Given the description of an element on the screen output the (x, y) to click on. 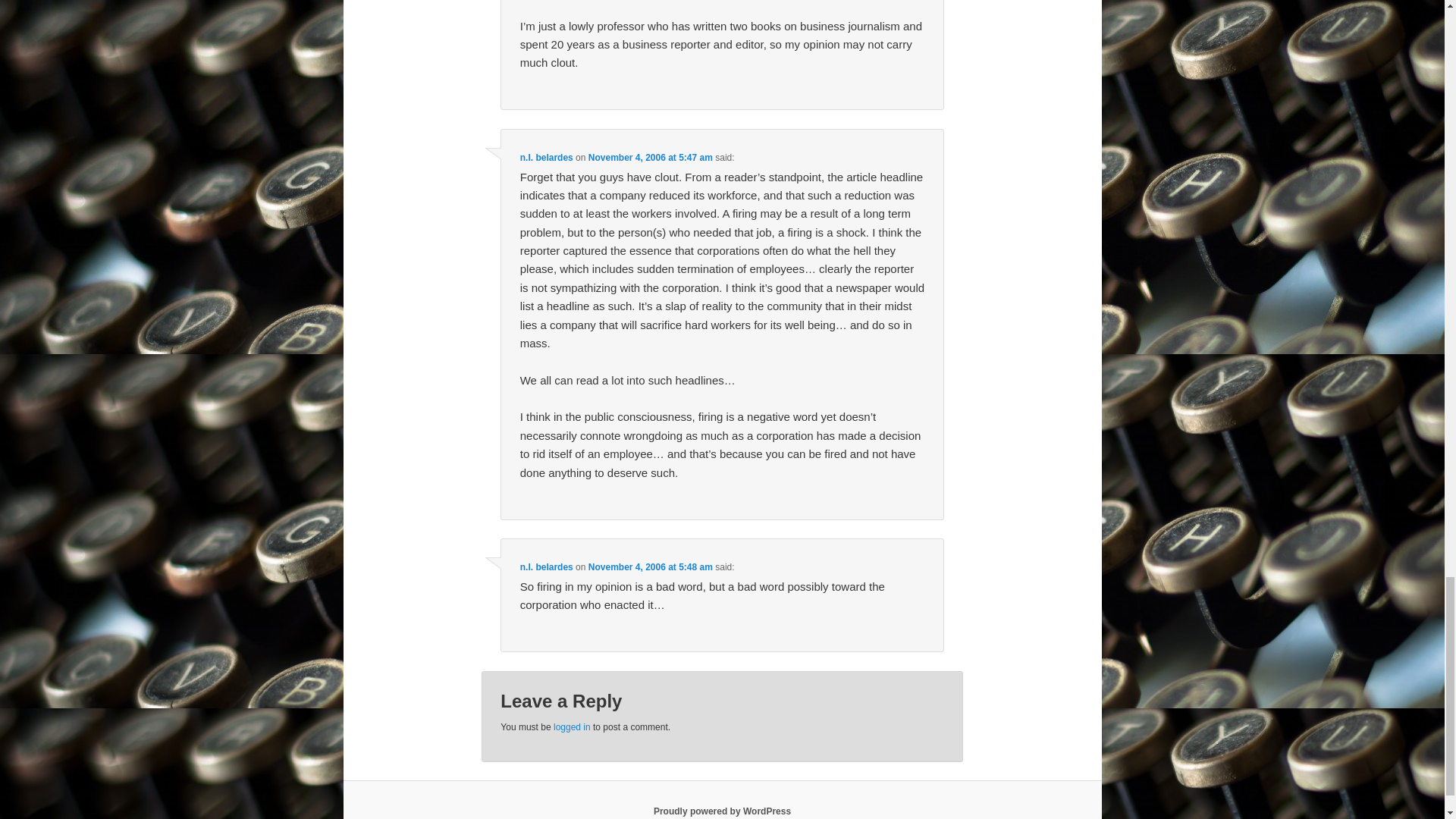
logged in (572, 726)
Semantic Personal Publishing Platform (721, 810)
n.l. belardes (546, 566)
November 4, 2006 at 5:47 am (650, 157)
Proudly powered by WordPress (721, 810)
November 4, 2006 at 5:48 am (650, 566)
n.l. belardes (546, 157)
